Given the description of an element on the screen output the (x, y) to click on. 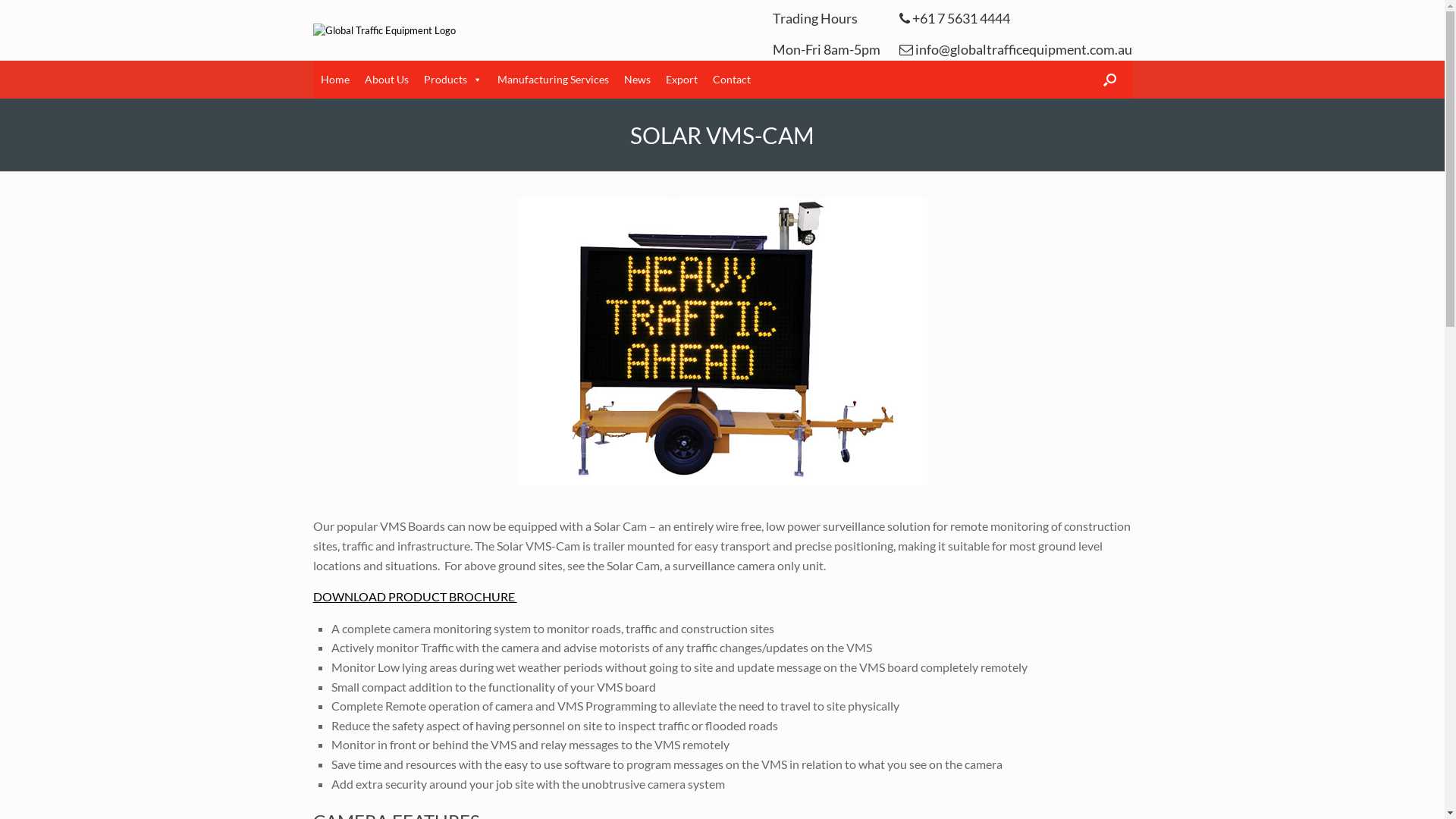
Export Element type: text (681, 79)
About Us Element type: text (385, 79)
DOWNLOAD PRODUCT BROCHURE  Element type: text (414, 596)
Global Traffic Equipment Element type: hover (383, 29)
News Element type: text (636, 79)
Contact Element type: text (731, 79)
Home Element type: text (334, 79)
Manufacturing Services Element type: text (552, 79)
Products Element type: text (452, 79)
